Given the description of an element on the screen output the (x, y) to click on. 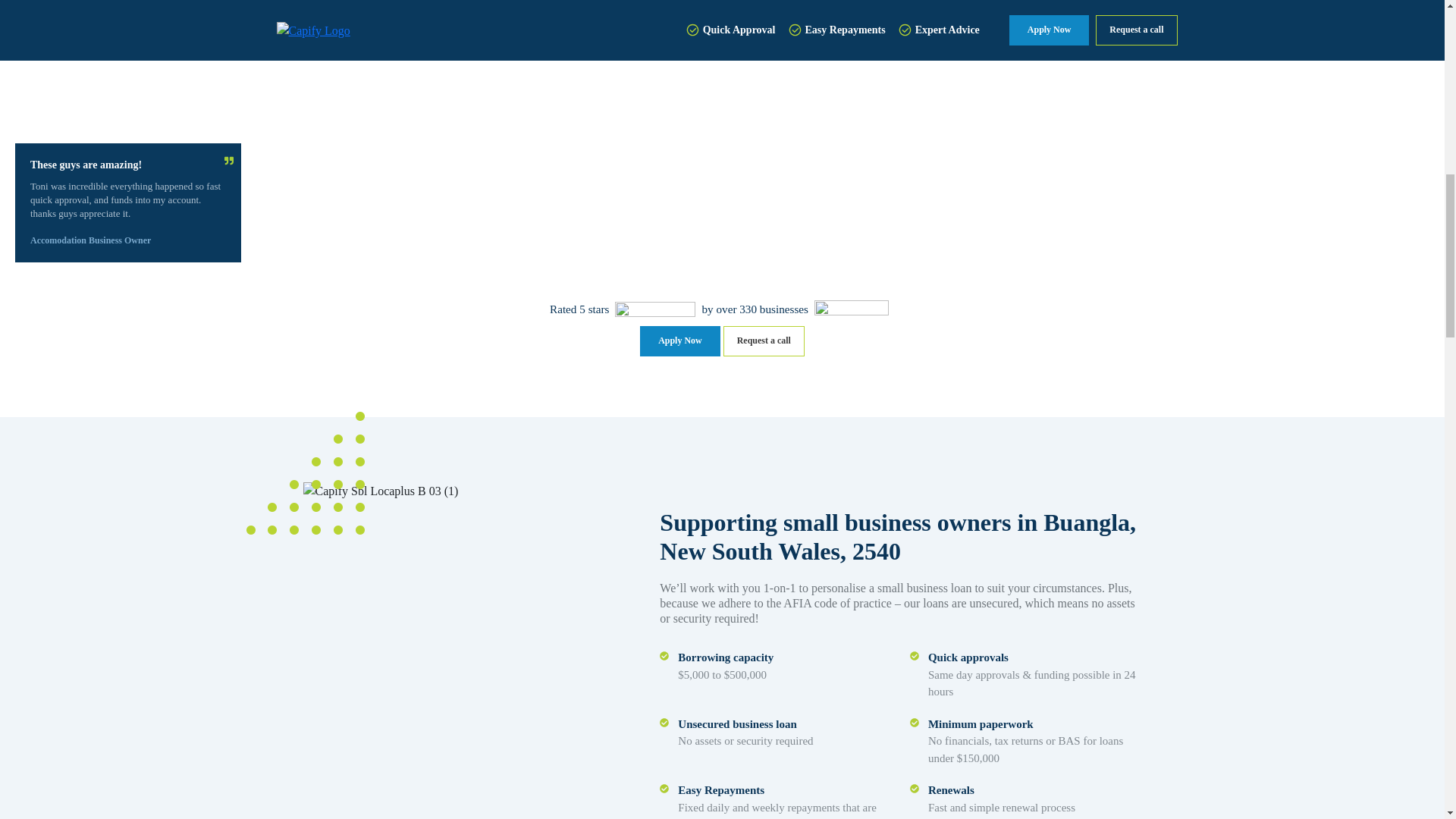
Request a call (764, 340)
Apply Now (680, 340)
